Given the description of an element on the screen output the (x, y) to click on. 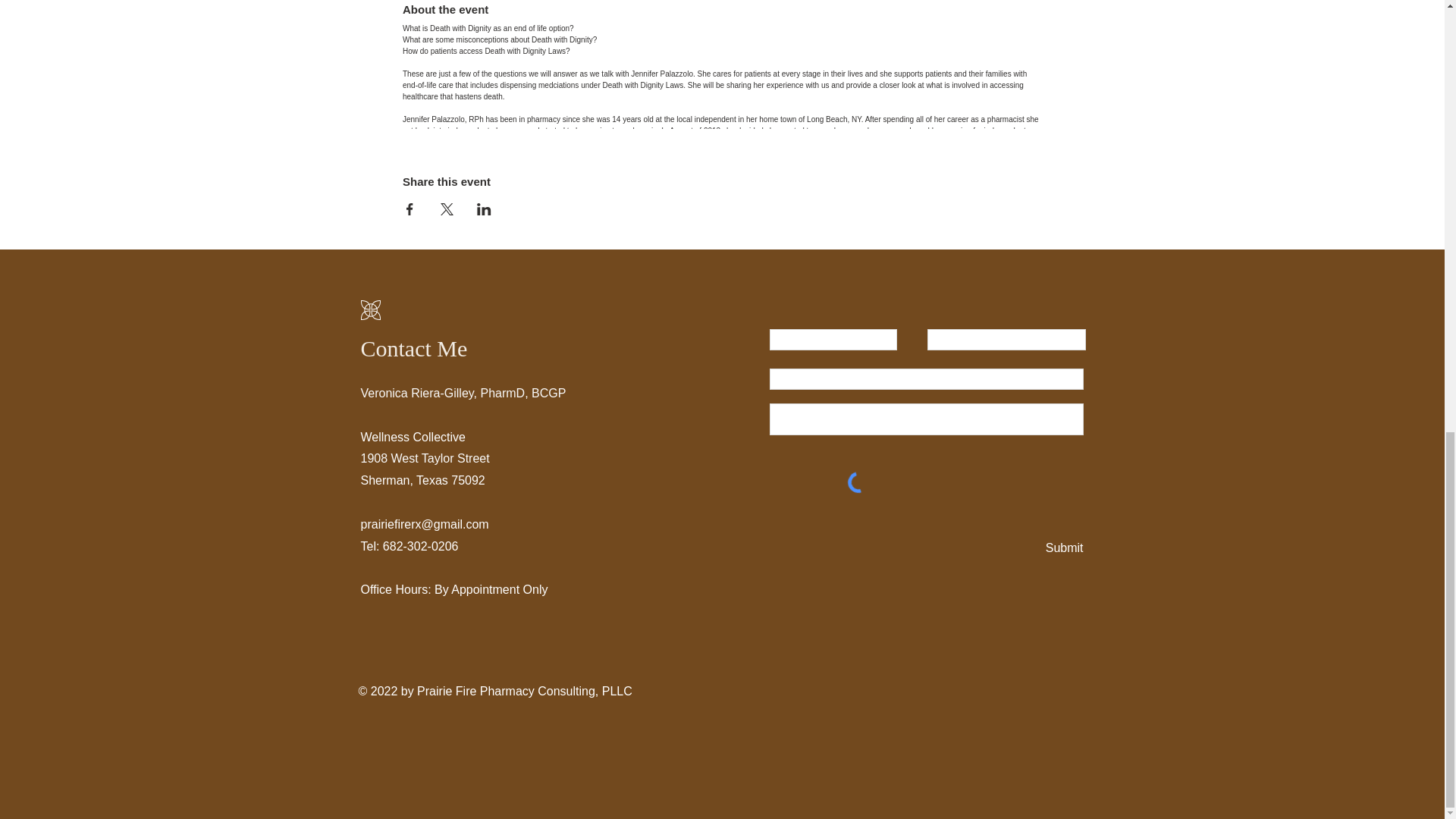
Submit (1062, 547)
Tel: 682-302-0206 (409, 545)
